Given the description of an element on the screen output the (x, y) to click on. 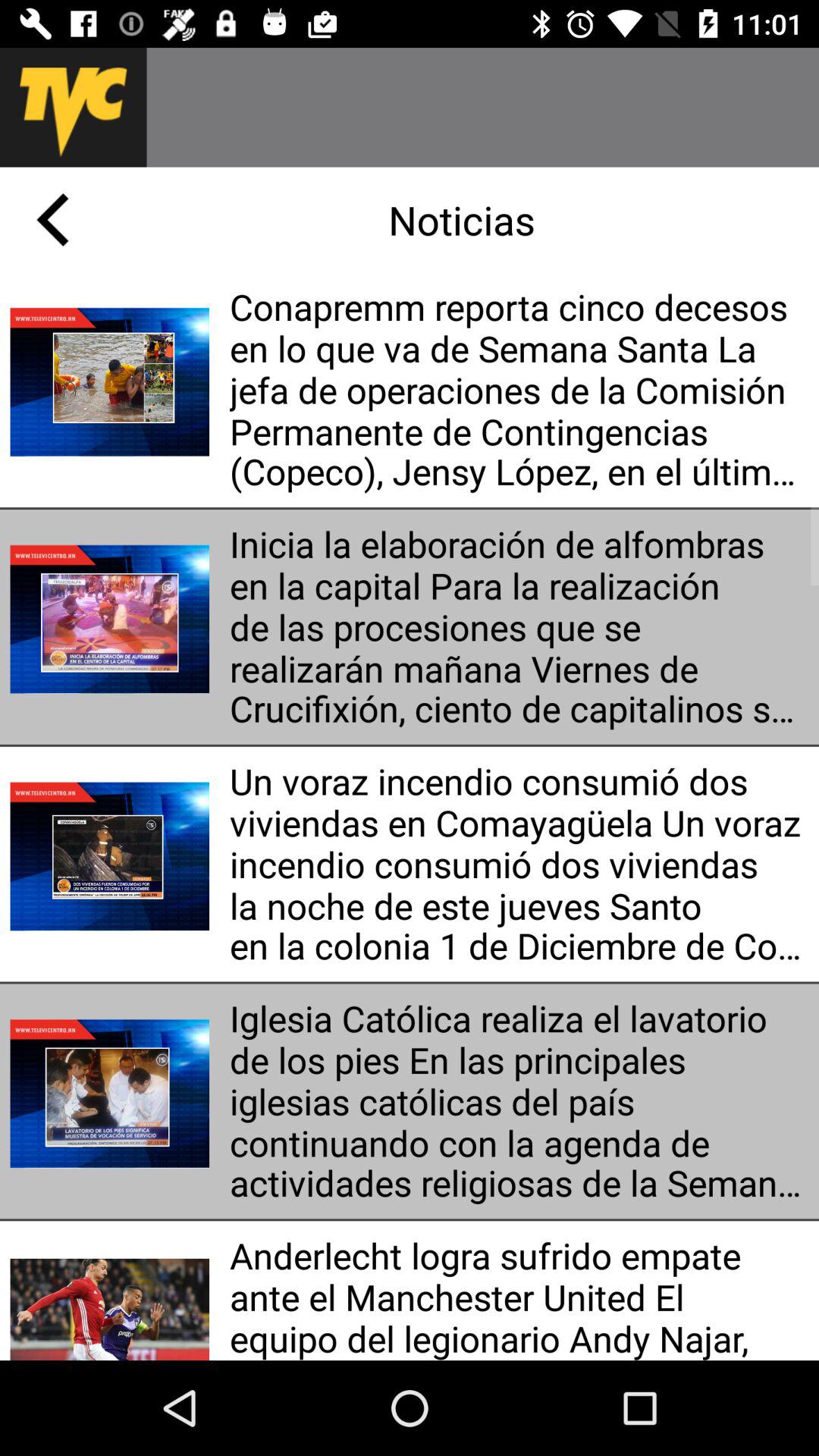
flip until anderlecht logra sufrido (518, 1295)
